Given the description of an element on the screen output the (x, y) to click on. 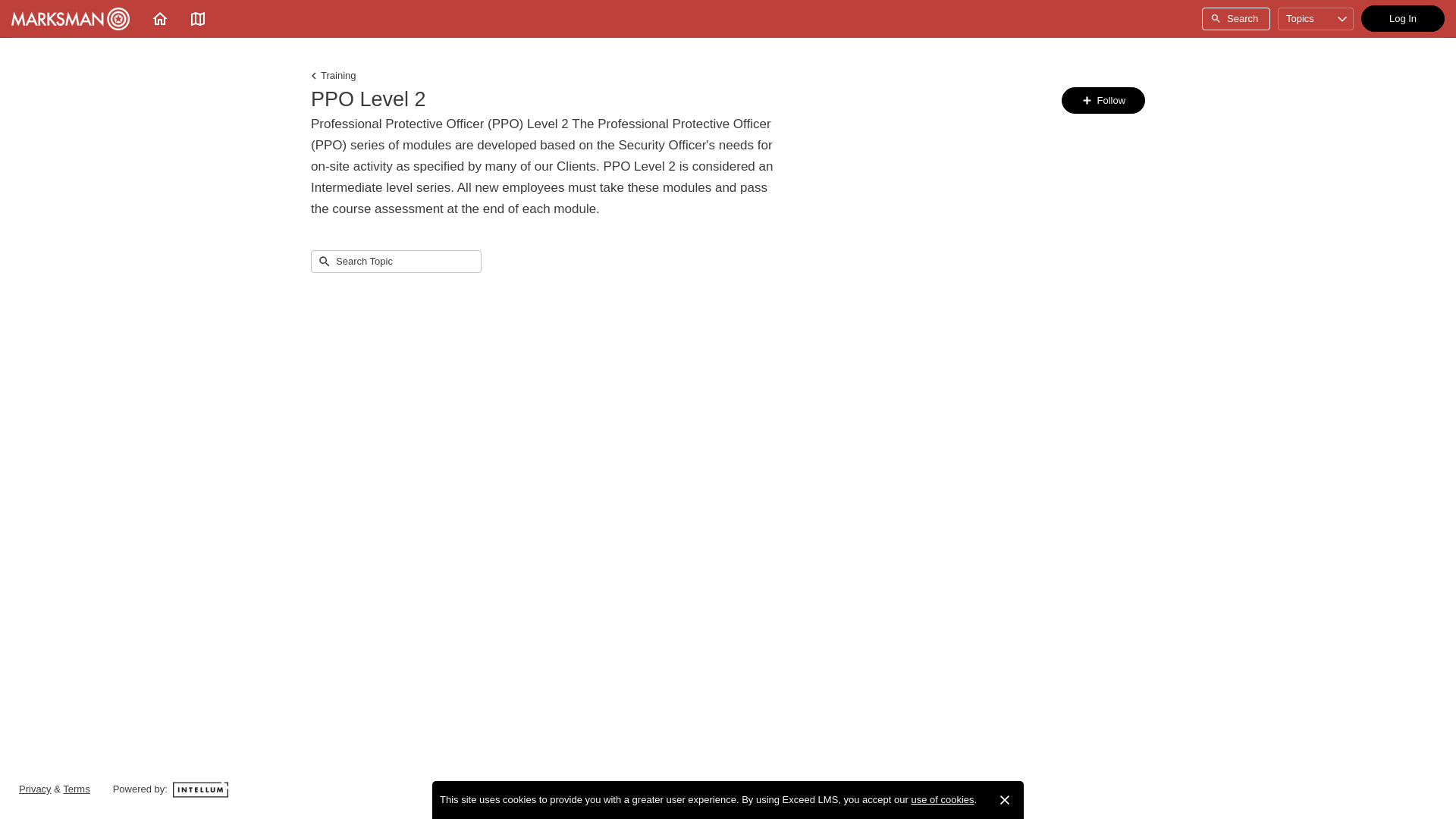
Log In (1402, 17)
Follow (1102, 99)
Topics (1316, 18)
Intellum (200, 789)
Search (1235, 18)
Training (333, 75)
use of cookies (942, 799)
